Given the description of an element on the screen output the (x, y) to click on. 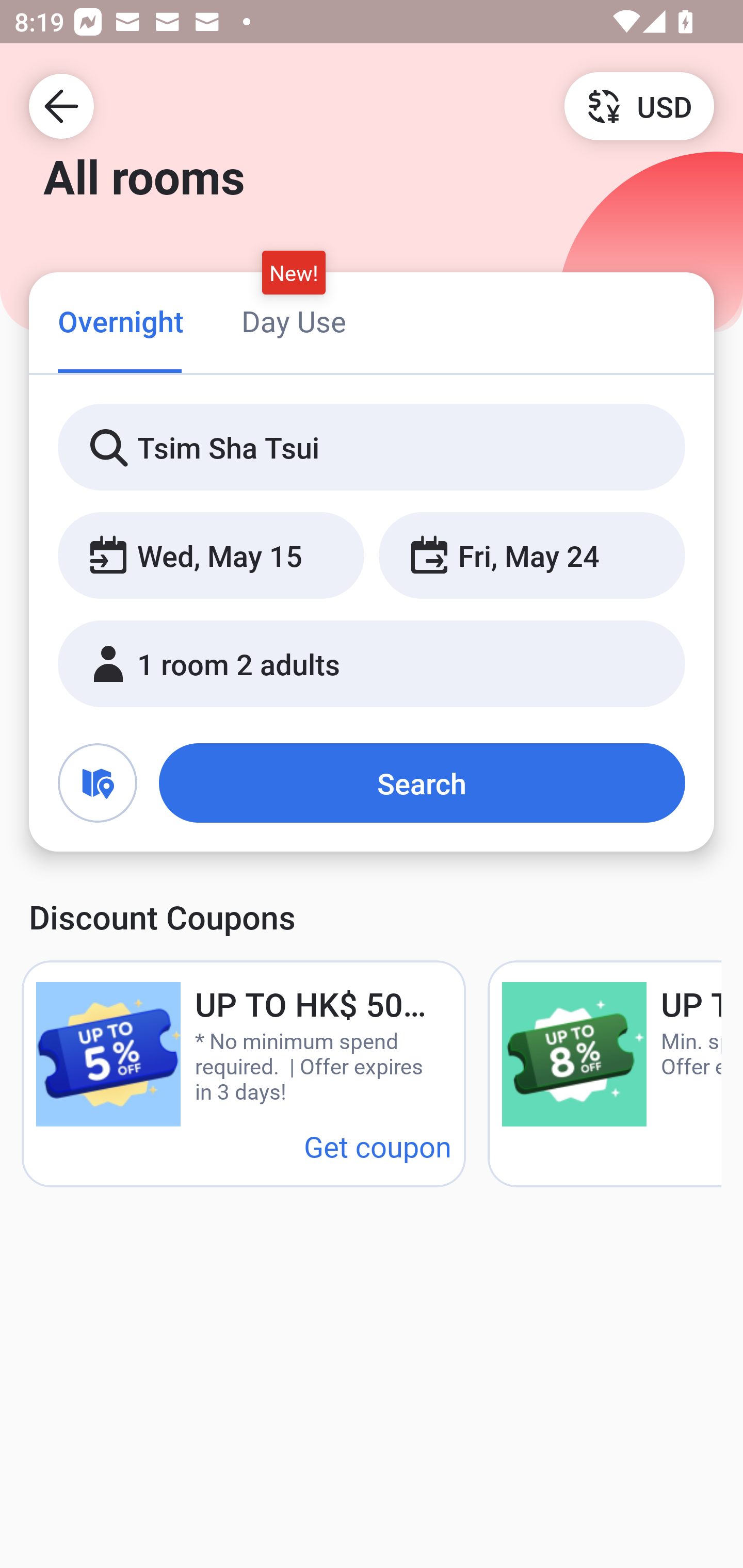
USD (639, 105)
New! (294, 272)
Day Use (293, 321)
Tsim Sha Tsui (371, 447)
Wed, May 15 (210, 555)
Fri, May 24 (531, 555)
1 room 2 adults (371, 663)
Search (422, 783)
Get coupon (377, 1146)
